Given the description of an element on the screen output the (x, y) to click on. 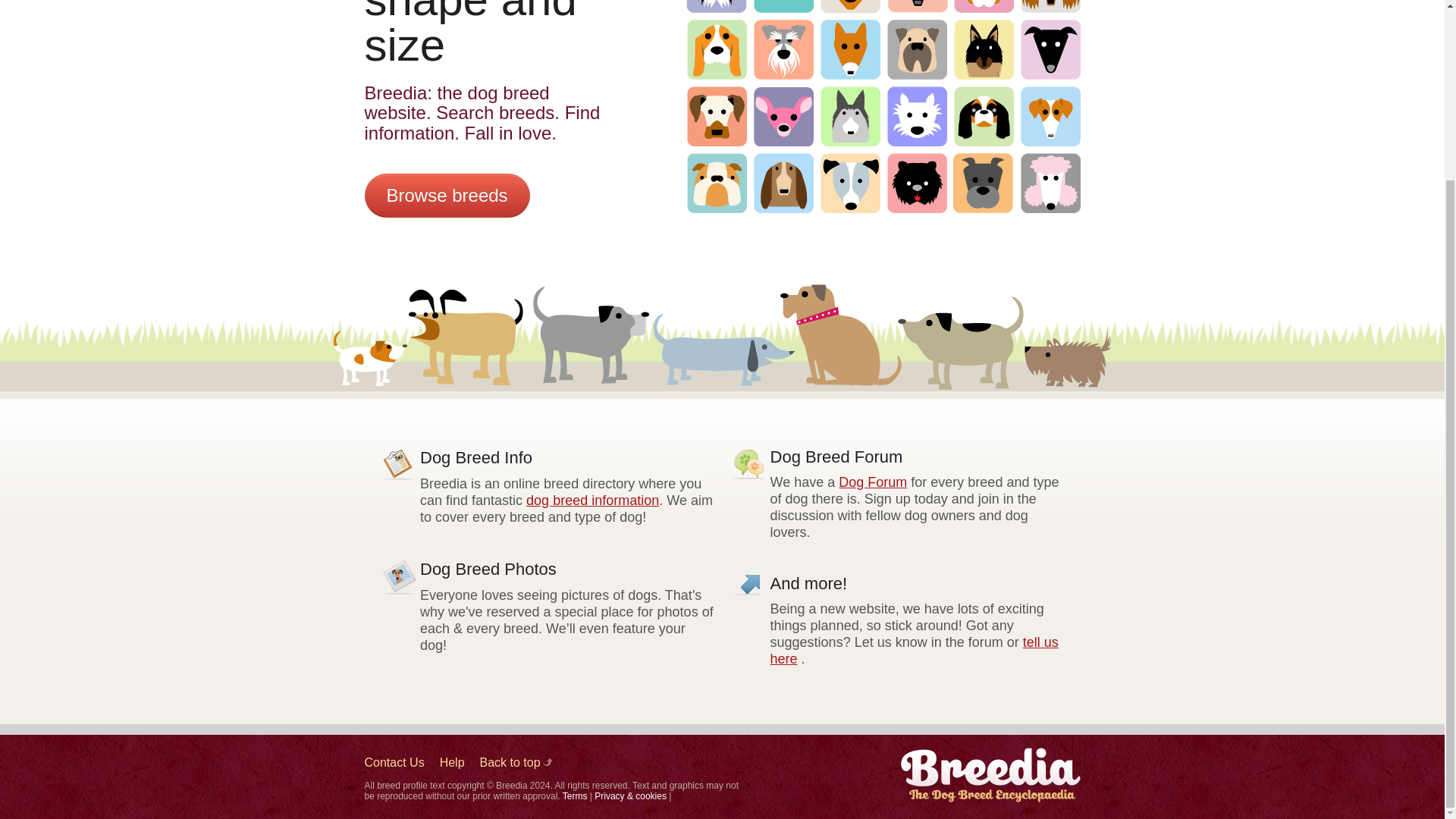
tell us here (914, 650)
dog breed information (592, 500)
Browse breeds (446, 195)
Back to top (515, 762)
Dog Forum (872, 482)
Terms (575, 796)
Contact Us (393, 762)
Help (451, 762)
